Given the description of an element on the screen output the (x, y) to click on. 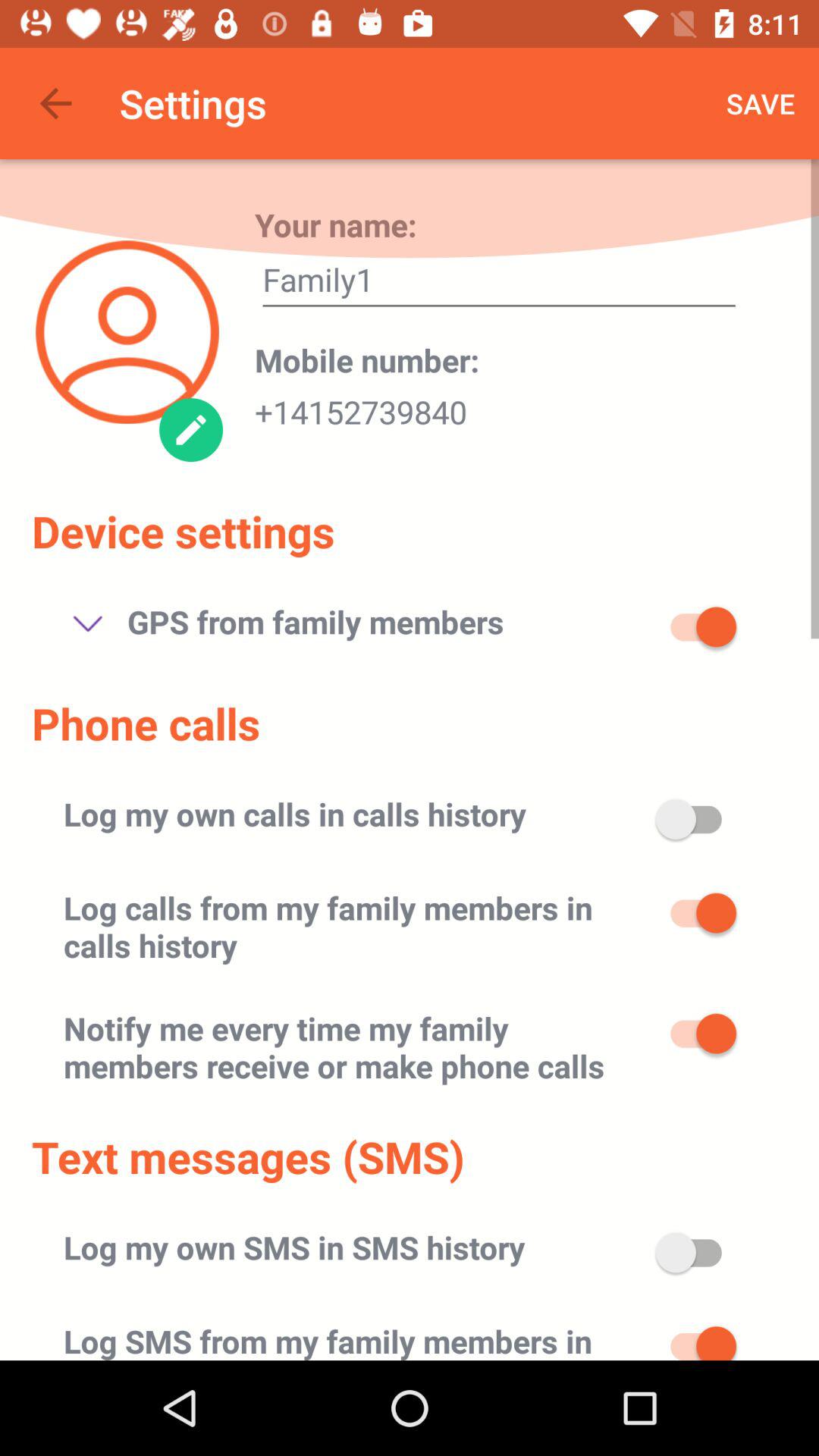
launch the app below settings item (335, 224)
